Given the description of an element on the screen output the (x, y) to click on. 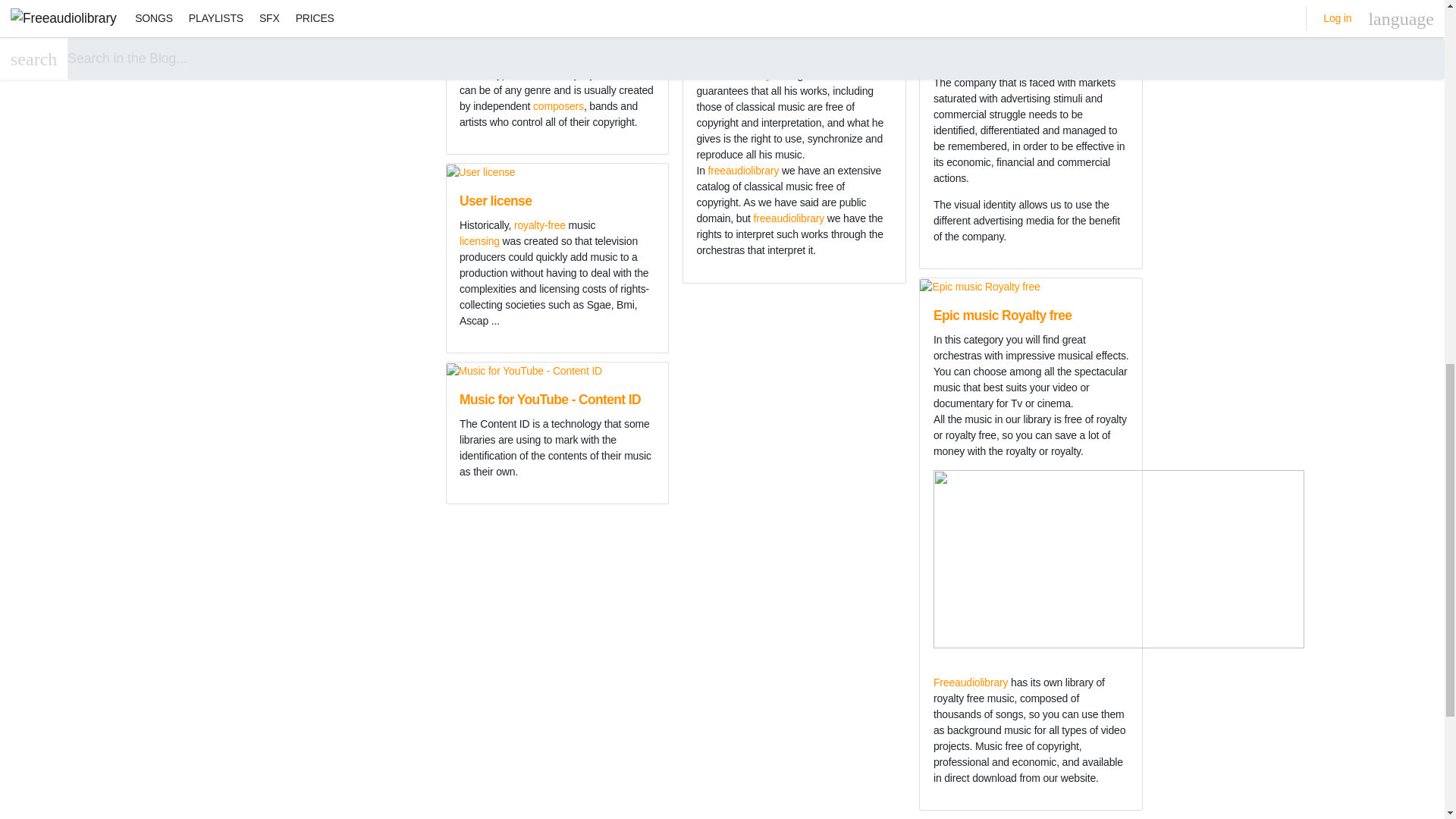
Royalty free music for video (541, 17)
composers (557, 105)
license (618, 58)
royalty free (594, 42)
User license (495, 200)
